Given the description of an element on the screen output the (x, y) to click on. 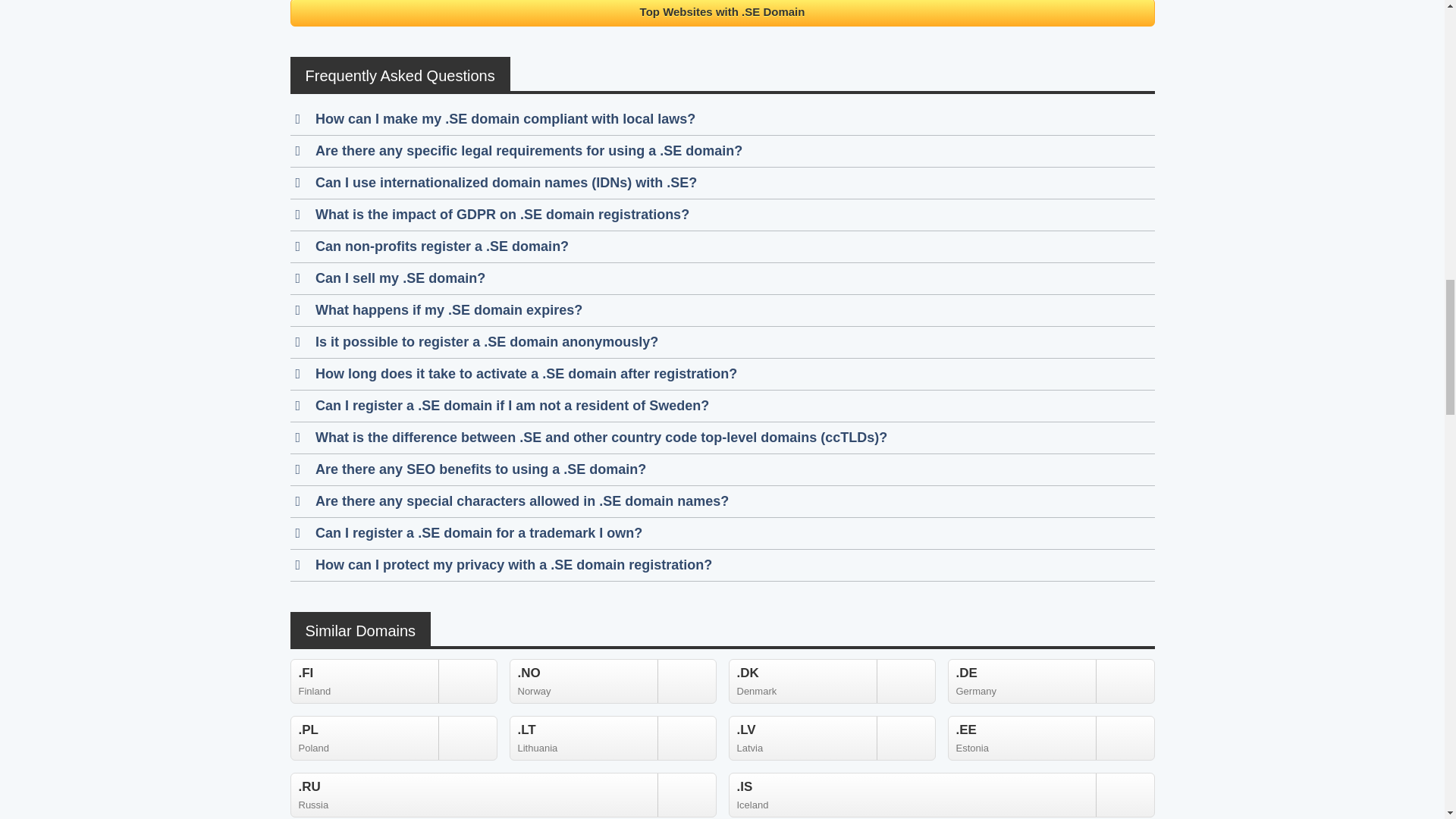
Top Websites with .SE Domain (831, 681)
